Given the description of an element on the screen output the (x, y) to click on. 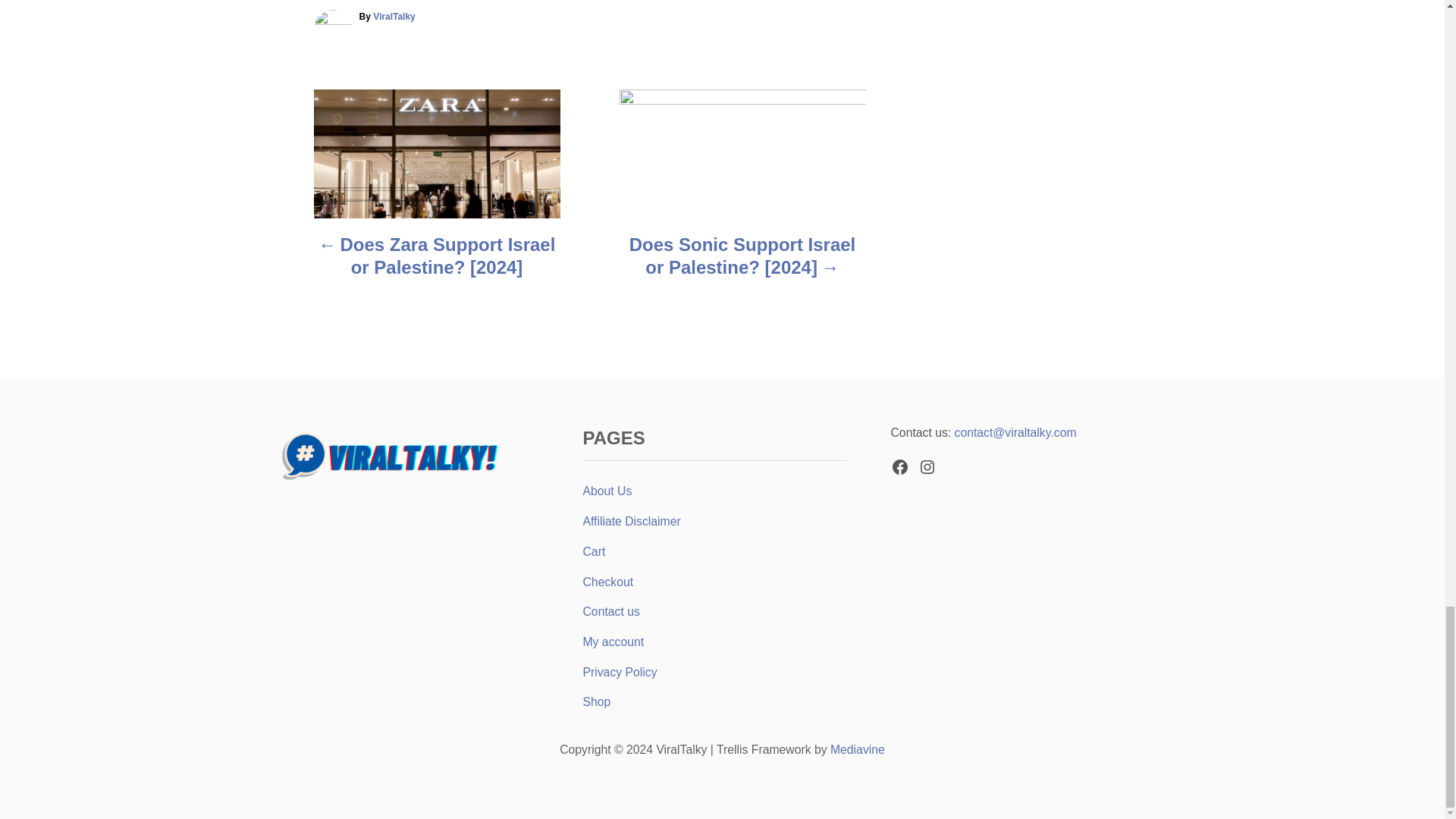
ViralTalky (393, 16)
